Given the description of an element on the screen output the (x, y) to click on. 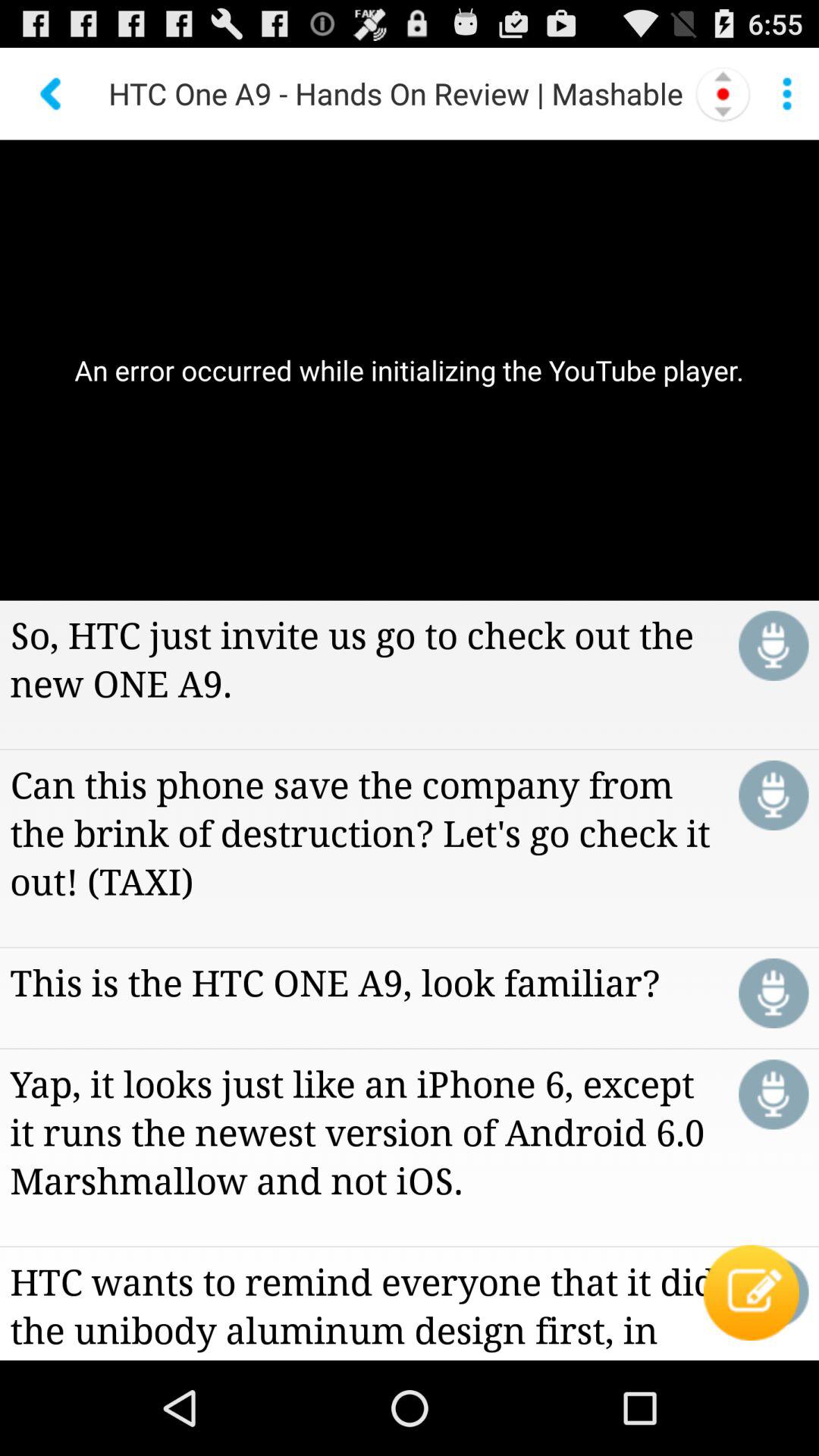
tap on the 3rd voice recorder icon (773, 992)
click on the back arrow at the top left of the page (51, 93)
click on first voice recorder (773, 646)
select the three dot menu option (787, 93)
click on voice recorder (773, 794)
